Given the description of an element on the screen output the (x, y) to click on. 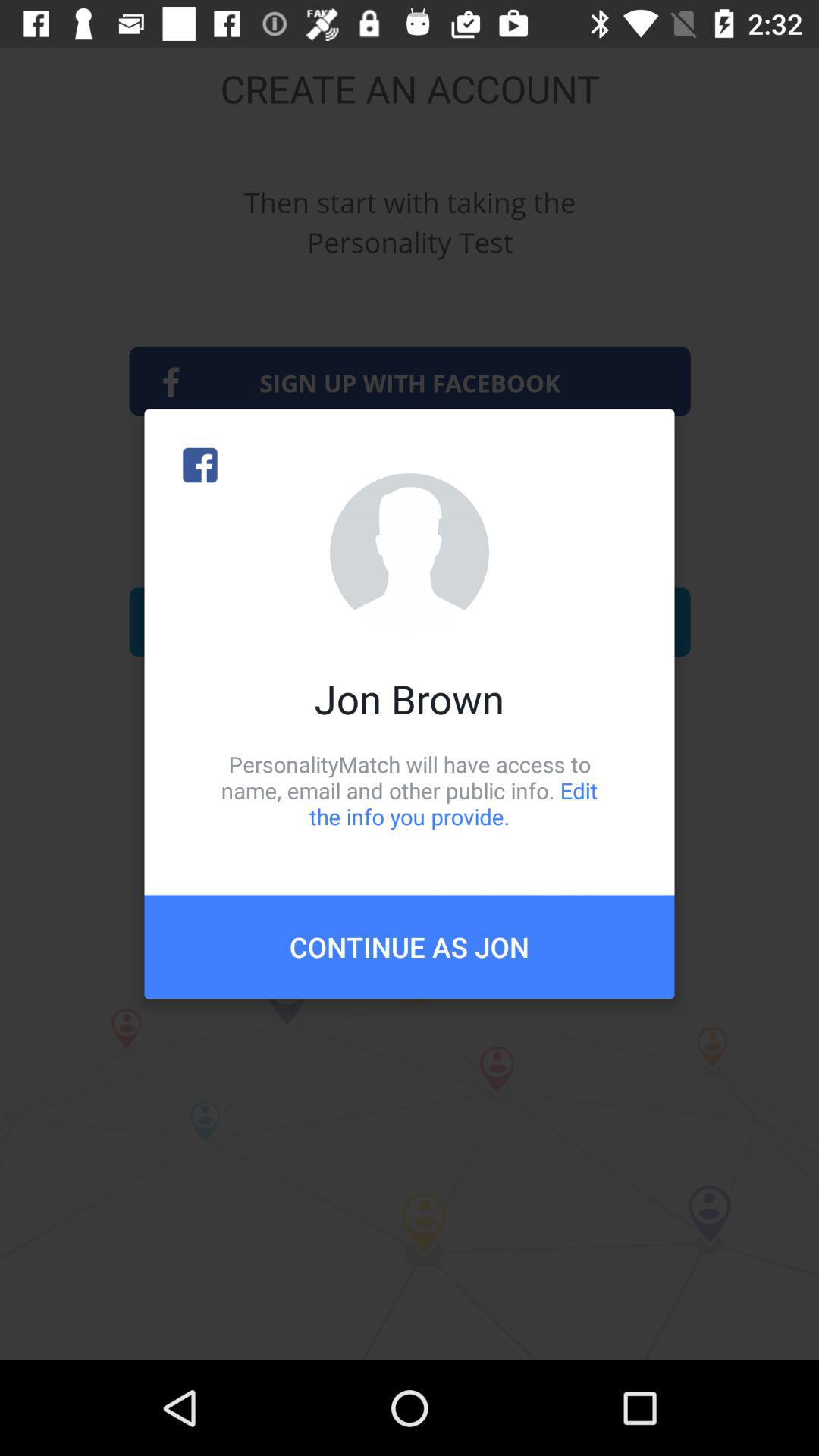
click personalitymatch will have icon (409, 790)
